Given the description of an element on the screen output the (x, y) to click on. 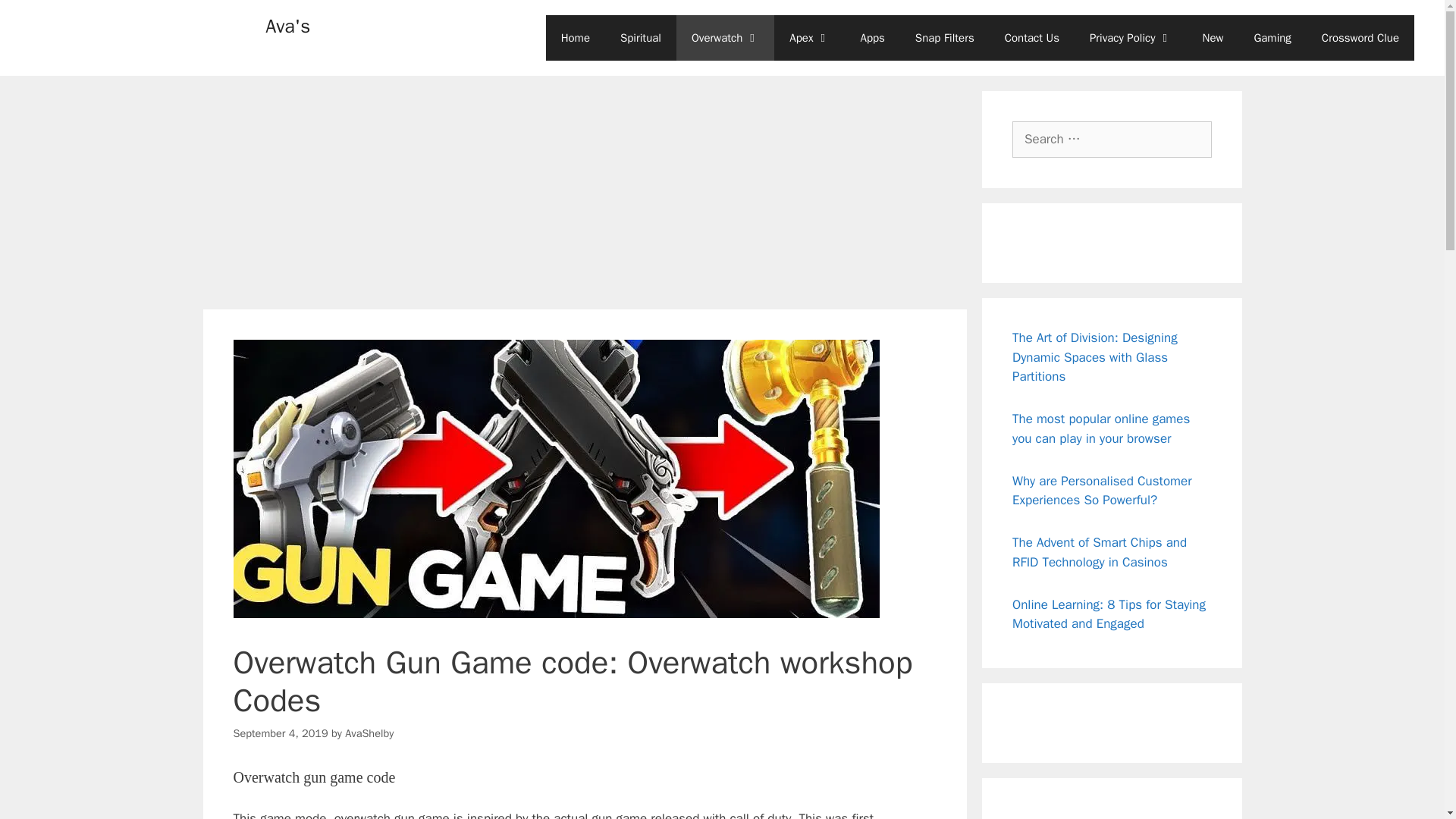
New (1213, 37)
Online Learning: 8 Tips for Staying Motivated and Engaged (1108, 613)
Apps (871, 37)
Home (575, 37)
Spiritual (641, 37)
Why are Personalised Customer Experiences So Powerful? (1101, 490)
Crossword Clue (1359, 37)
AvaShelby (369, 733)
Gaming (1272, 37)
Snap Filters (944, 37)
The most popular online games you can play in your browser (1100, 428)
Privacy Policy (1131, 37)
Overwatch (725, 37)
